Given the description of an element on the screen output the (x, y) to click on. 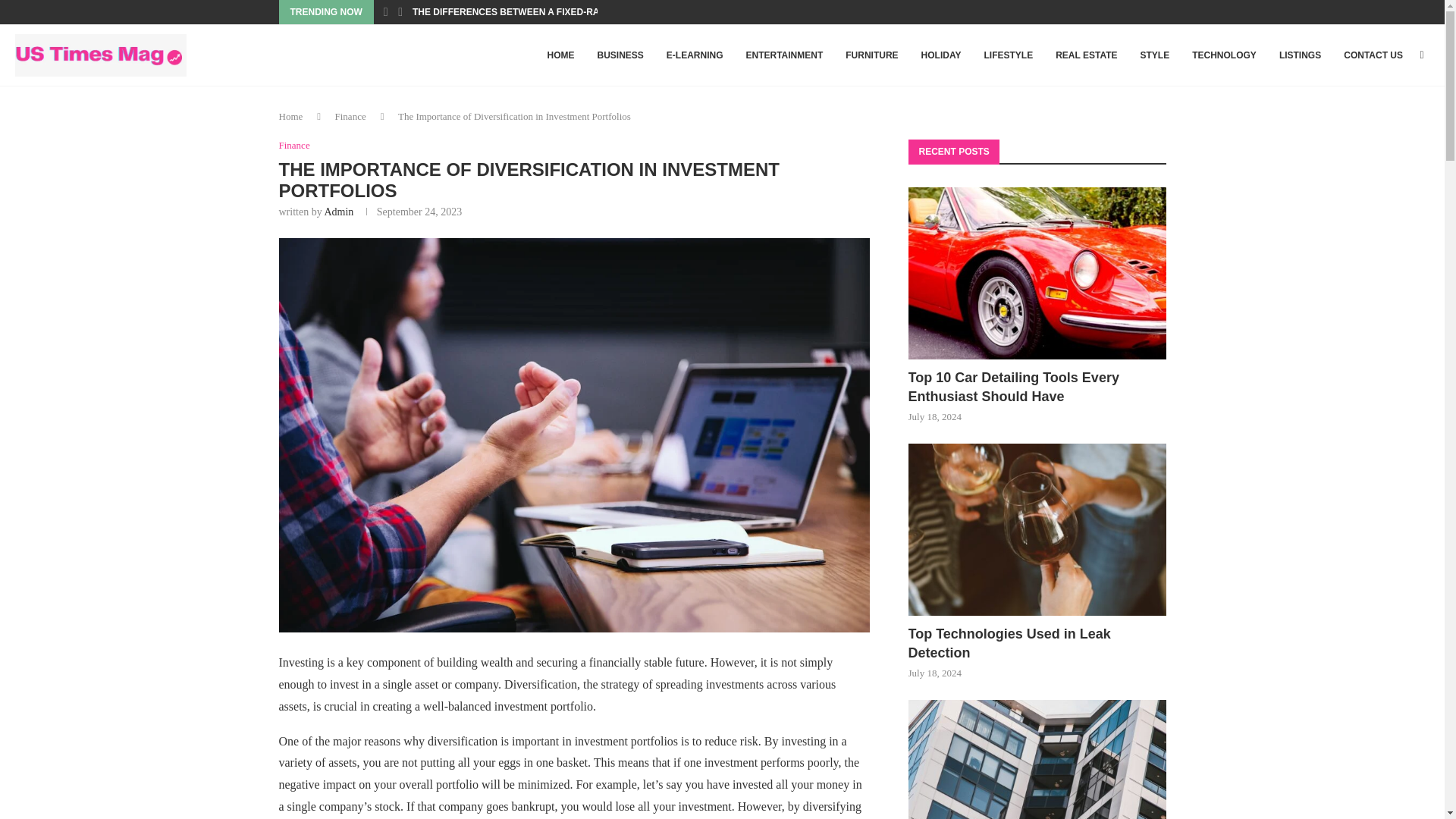
REAL ESTATE (1085, 55)
CONTACT US (1373, 55)
E-LEARNING (694, 55)
Finance (350, 116)
TECHNOLOGY (1224, 55)
ENTERTAINMENT (784, 55)
Home (290, 116)
